Given the description of an element on the screen output the (x, y) to click on. 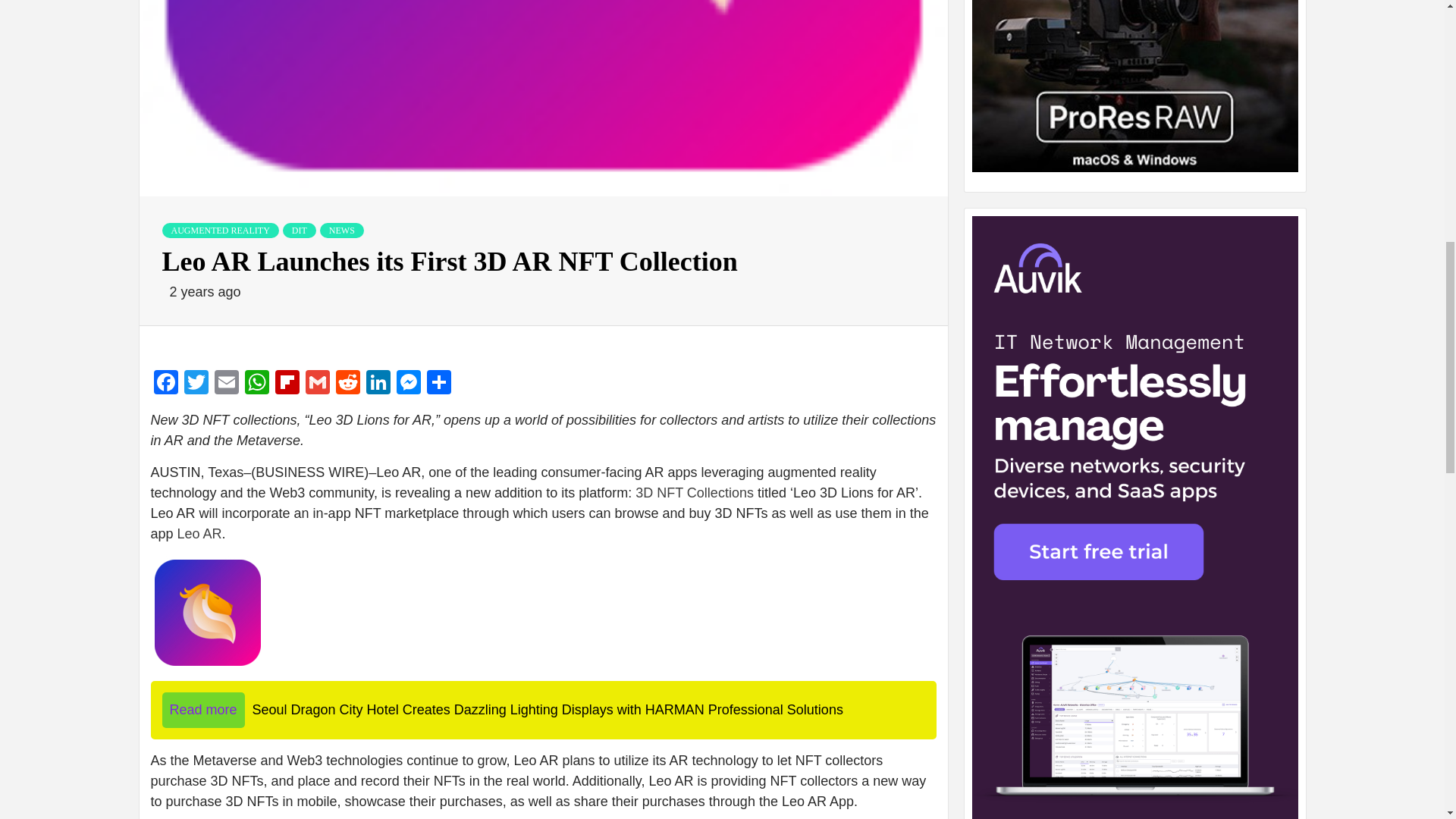
LinkedIn (377, 384)
LinkedIn (377, 384)
Leo AR (199, 533)
Messenger (408, 384)
DIT (298, 230)
Flipboard (285, 384)
Facebook (164, 384)
Gmail (316, 384)
Reddit (346, 384)
Twitter (195, 384)
